Given the description of an element on the screen output the (x, y) to click on. 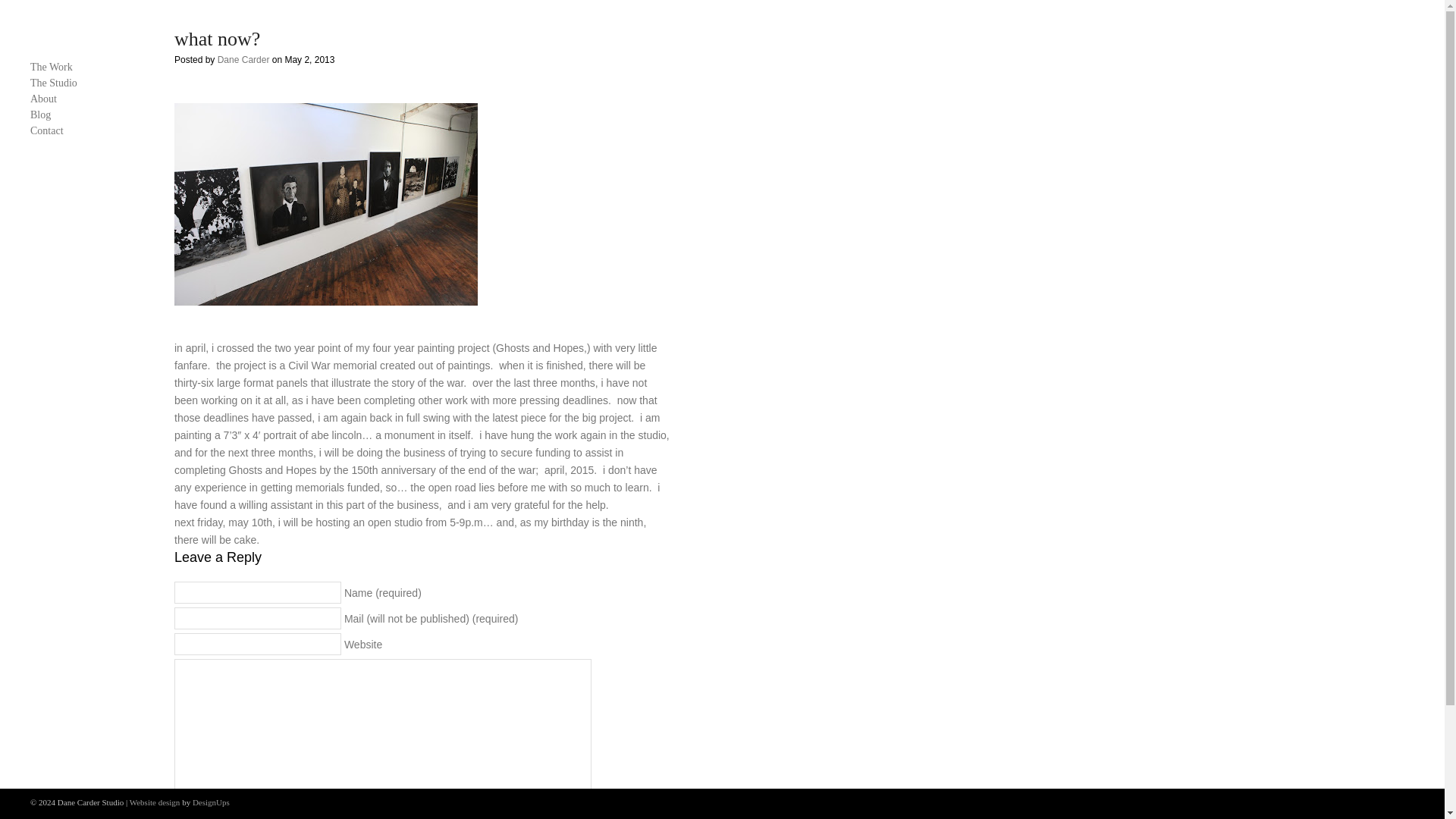
Dane Carder (242, 59)
About (87, 99)
DesignUps (211, 801)
The Work (87, 67)
Submit Comment (233, 812)
DesignUps Nashville Web Design Company (211, 801)
Submit Comment (233, 812)
Nashville Website Design (154, 801)
Blog (87, 114)
Contact (87, 131)
Website design (154, 801)
The Studio (87, 82)
